Given the description of an element on the screen output the (x, y) to click on. 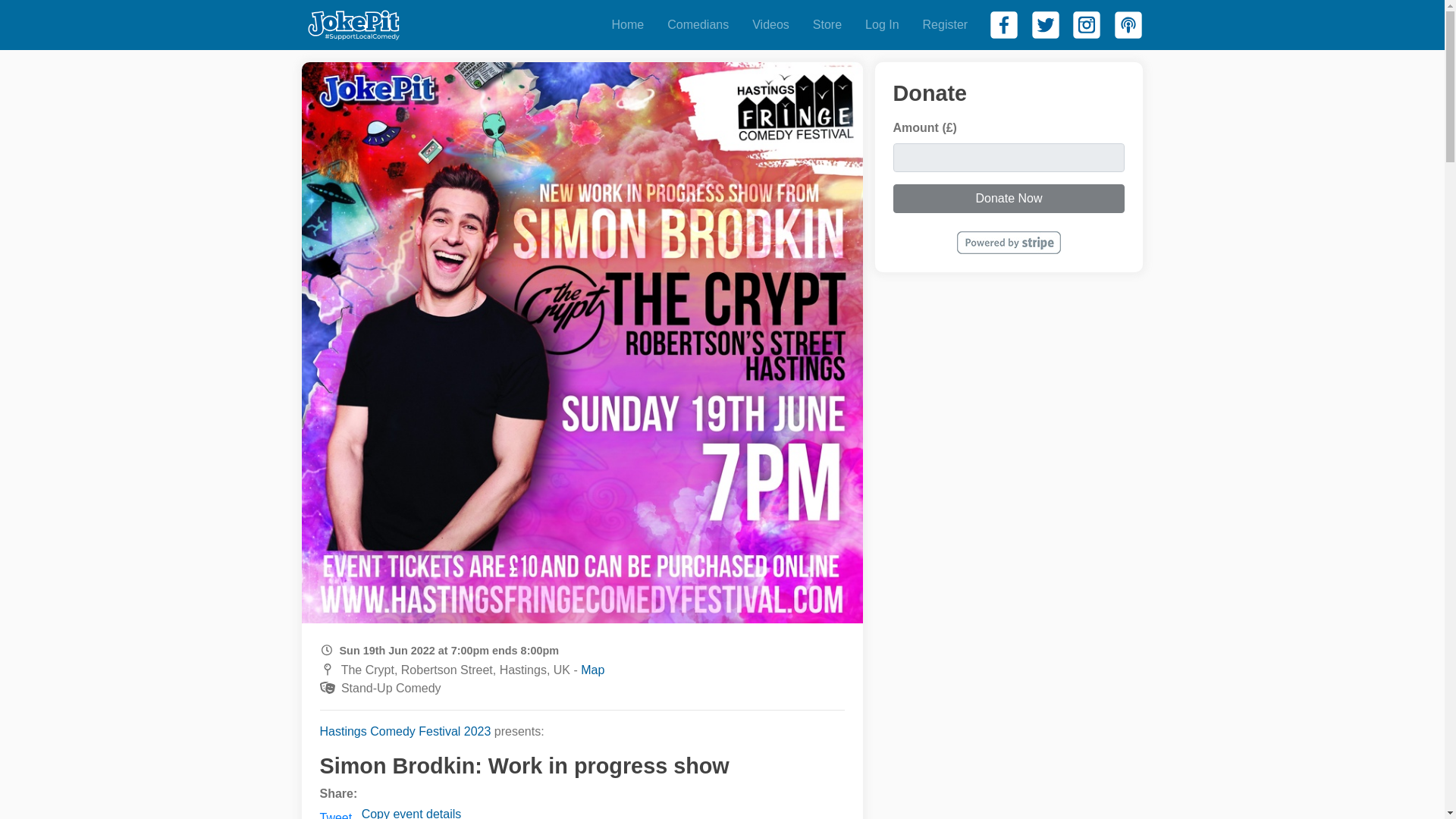
Map (592, 669)
Videos (769, 24)
Tweet (336, 815)
Hastings Comedy Festival 2023 (406, 730)
Donate Now (1009, 198)
Comedians (698, 24)
Home (627, 24)
Log In (881, 24)
Register (945, 24)
Copy event details (411, 813)
Donate Now (1009, 198)
Store (826, 24)
